Given the description of an element on the screen output the (x, y) to click on. 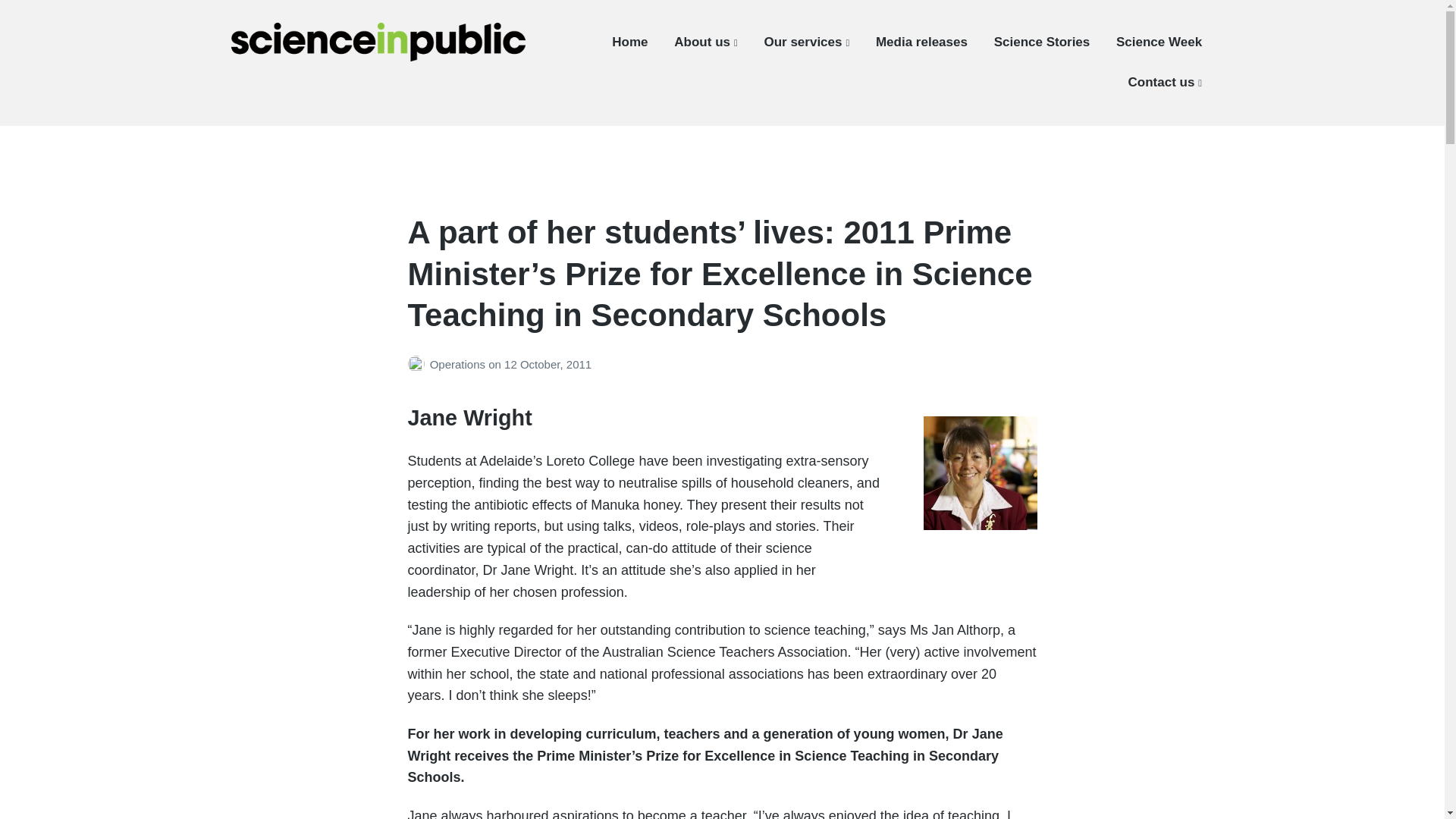
Jane mid (979, 472)
Media releases (922, 42)
Posts by Operations (418, 364)
Science Week (1159, 42)
About us (705, 42)
Contact us (1165, 82)
Science In Public (312, 72)
Home (629, 42)
Our services (805, 42)
Science Stories (1042, 42)
